Given the description of an element on the screen output the (x, y) to click on. 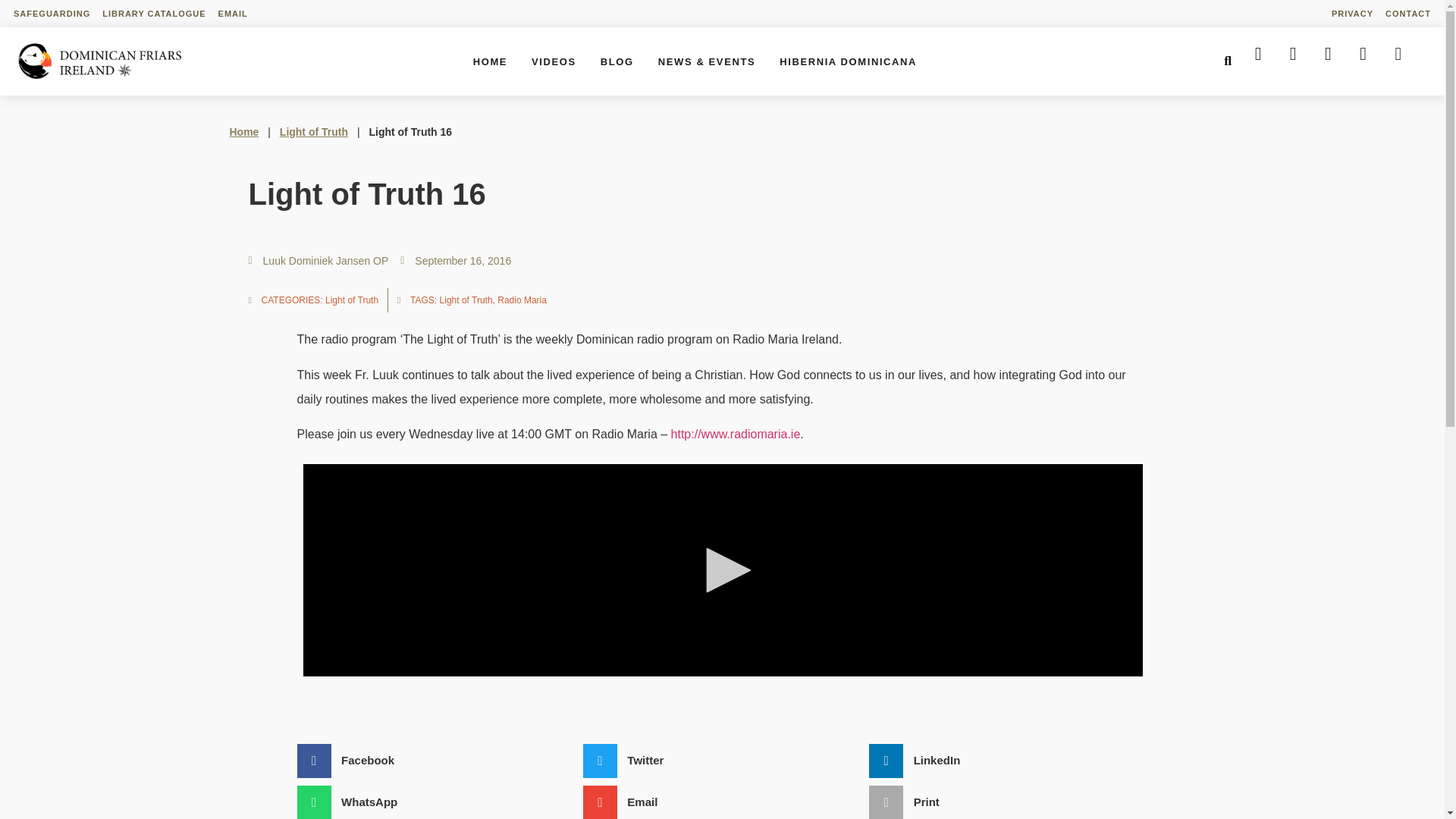
Luuk Dominiek Jansen OP (318, 260)
HOME (489, 61)
Light of Truth (313, 132)
Light of Truth (351, 299)
VIDEOS (553, 61)
Radio Maria (522, 299)
Home (243, 132)
EMAIL (232, 13)
CONTACT (1407, 13)
LIBRARY CATALOGUE (153, 13)
